Given the description of an element on the screen output the (x, y) to click on. 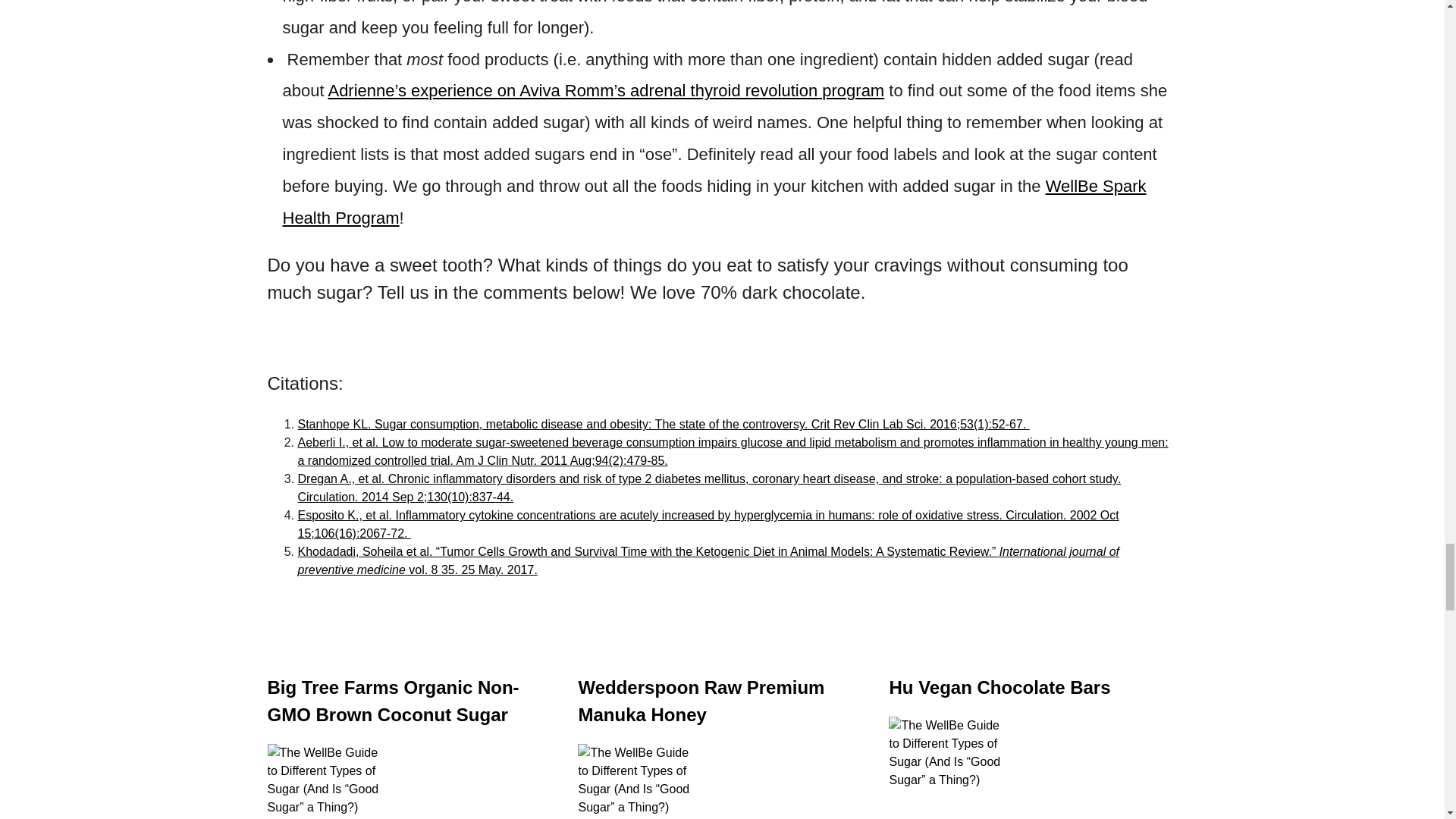
Hu (945, 767)
Coconut sugar (323, 781)
